Given the description of an element on the screen output the (x, y) to click on. 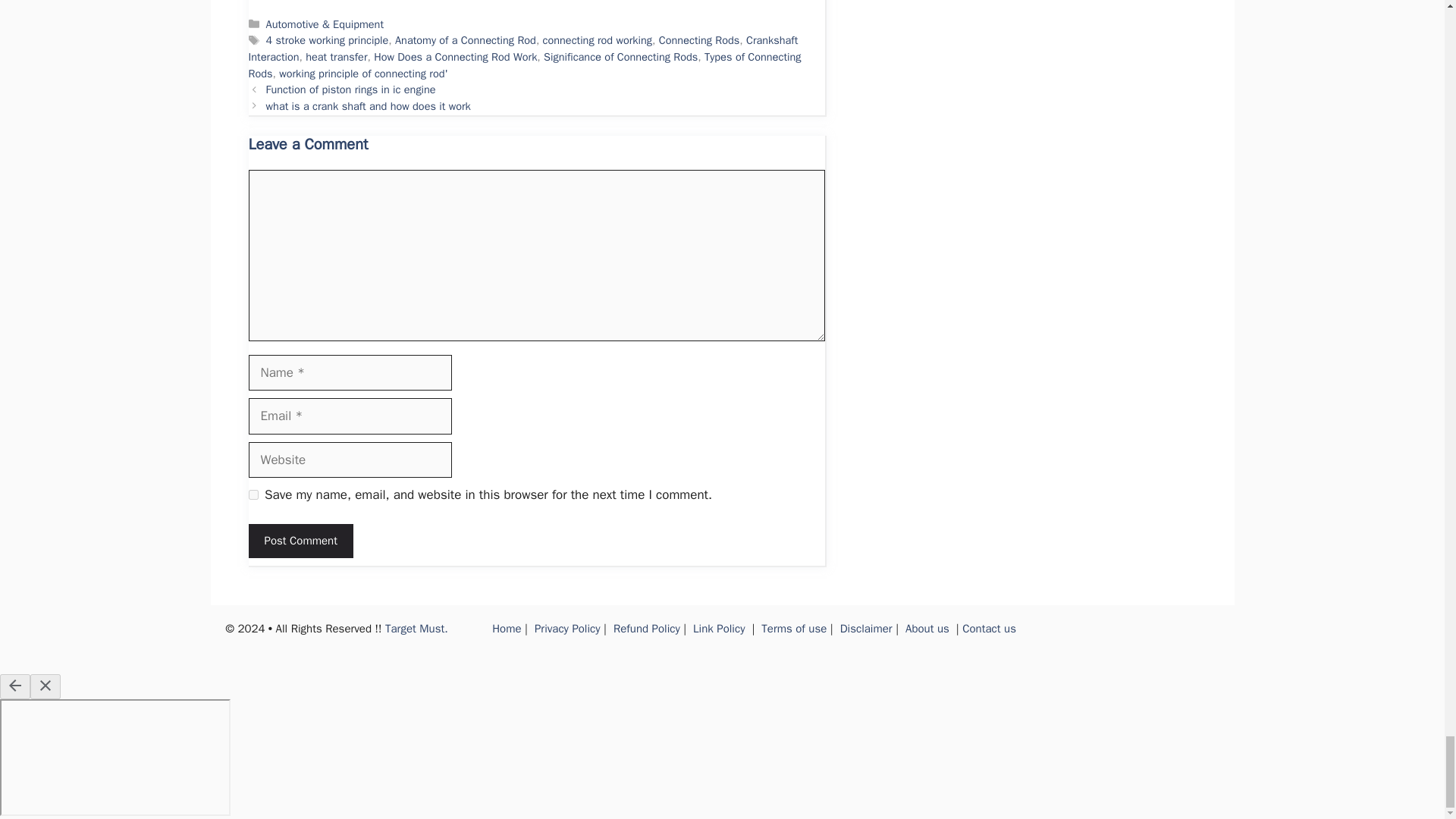
4 stroke working principle (327, 39)
yes (253, 494)
Post Comment (300, 540)
connecting rod working (597, 39)
